Given the description of an element on the screen output the (x, y) to click on. 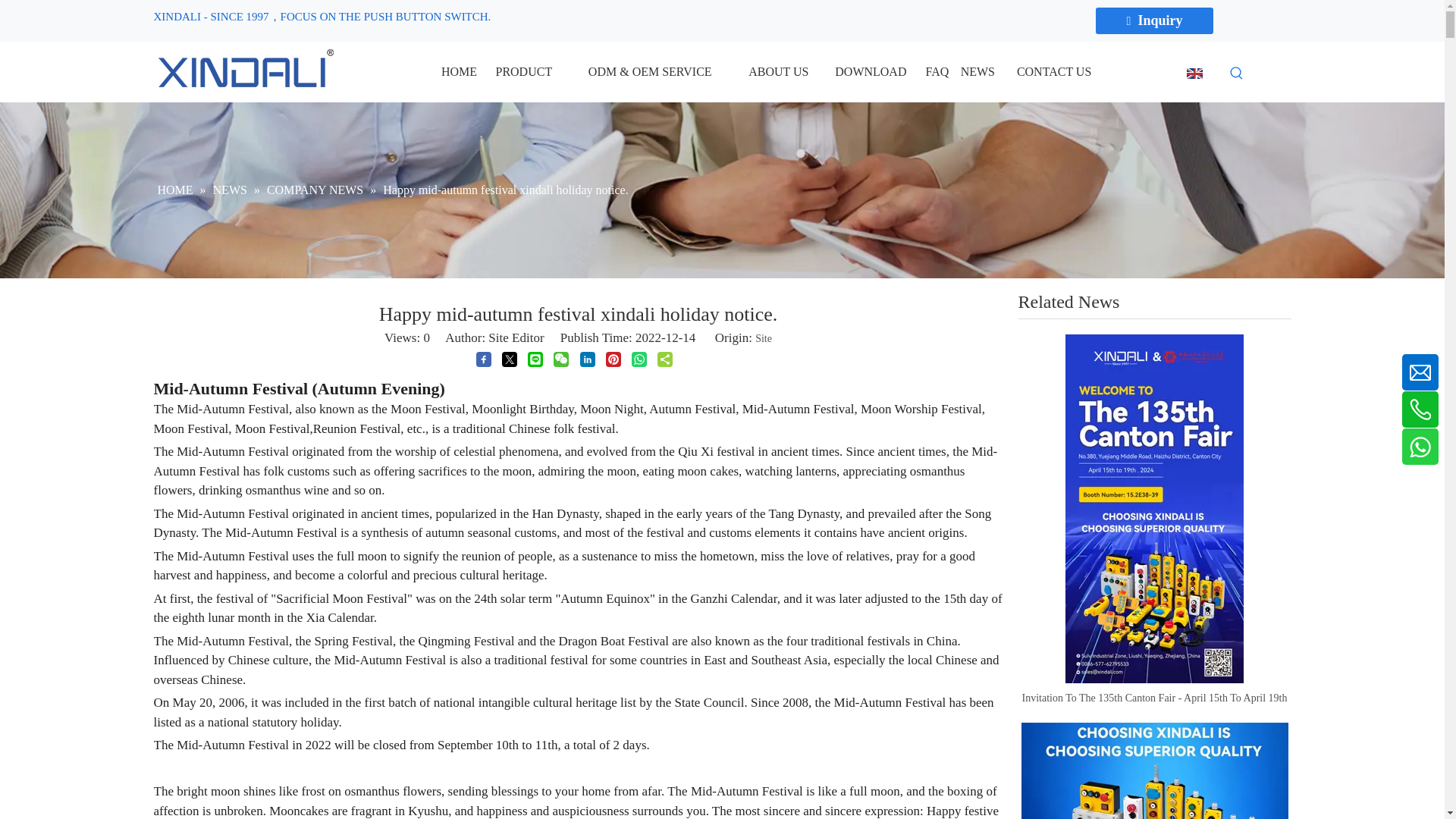
HOME (458, 72)
  Inquiry (1155, 20)
PRODUCT (523, 72)
Welcome to The 134th Canton Fair (1153, 770)
xindali logo (242, 69)
